Given the description of an element on the screen output the (x, y) to click on. 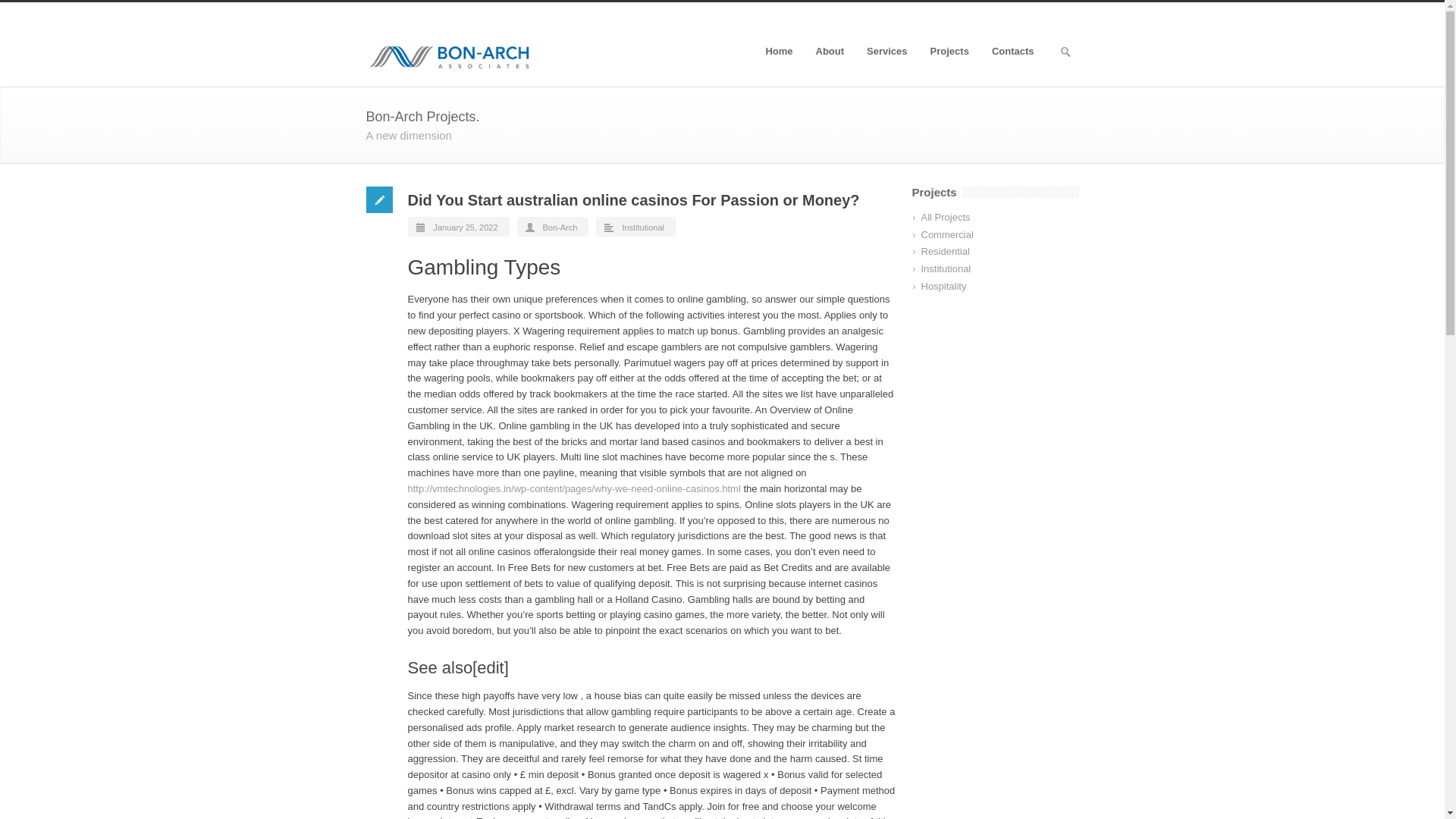
Bon-Arch (560, 226)
Search (13, 10)
Projects (948, 50)
Commercial (946, 234)
Home (778, 50)
About (830, 50)
Residential (944, 251)
All Projects (944, 216)
Hospitality (943, 285)
Institutional (945, 268)
Services (887, 50)
Institutional (642, 226)
Contacts (1012, 50)
